Given the description of an element on the screen output the (x, y) to click on. 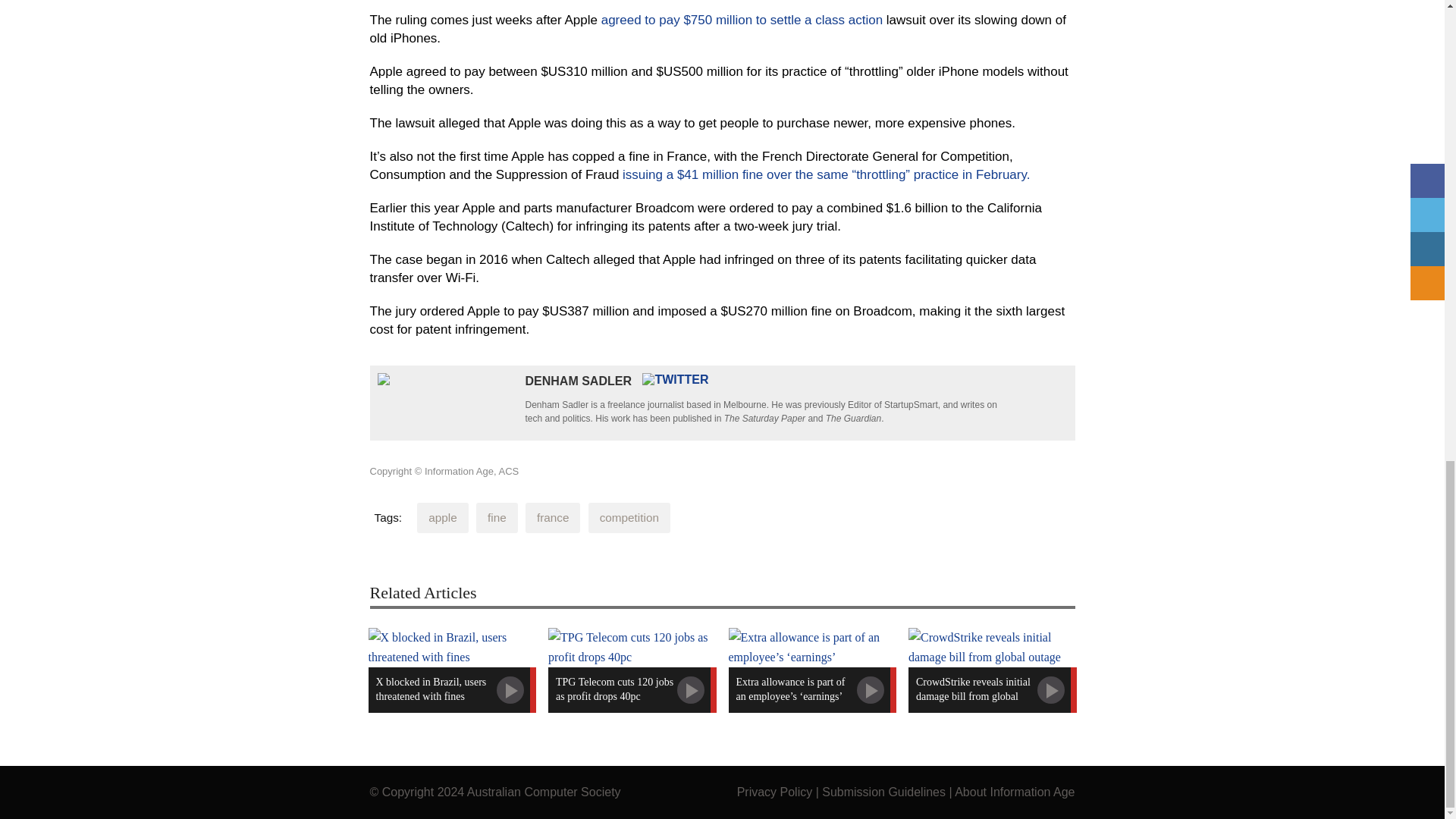
TPG Telecom cuts 120 jobs as profit drops 40pc (632, 669)
X blocked in Brazil, users threatened with fines (452, 669)
apple (441, 517)
competition (628, 517)
CrowdStrike reveals initial damage bill from global outage (992, 669)
france (552, 517)
fine (497, 517)
